Given the description of an element on the screen output the (x, y) to click on. 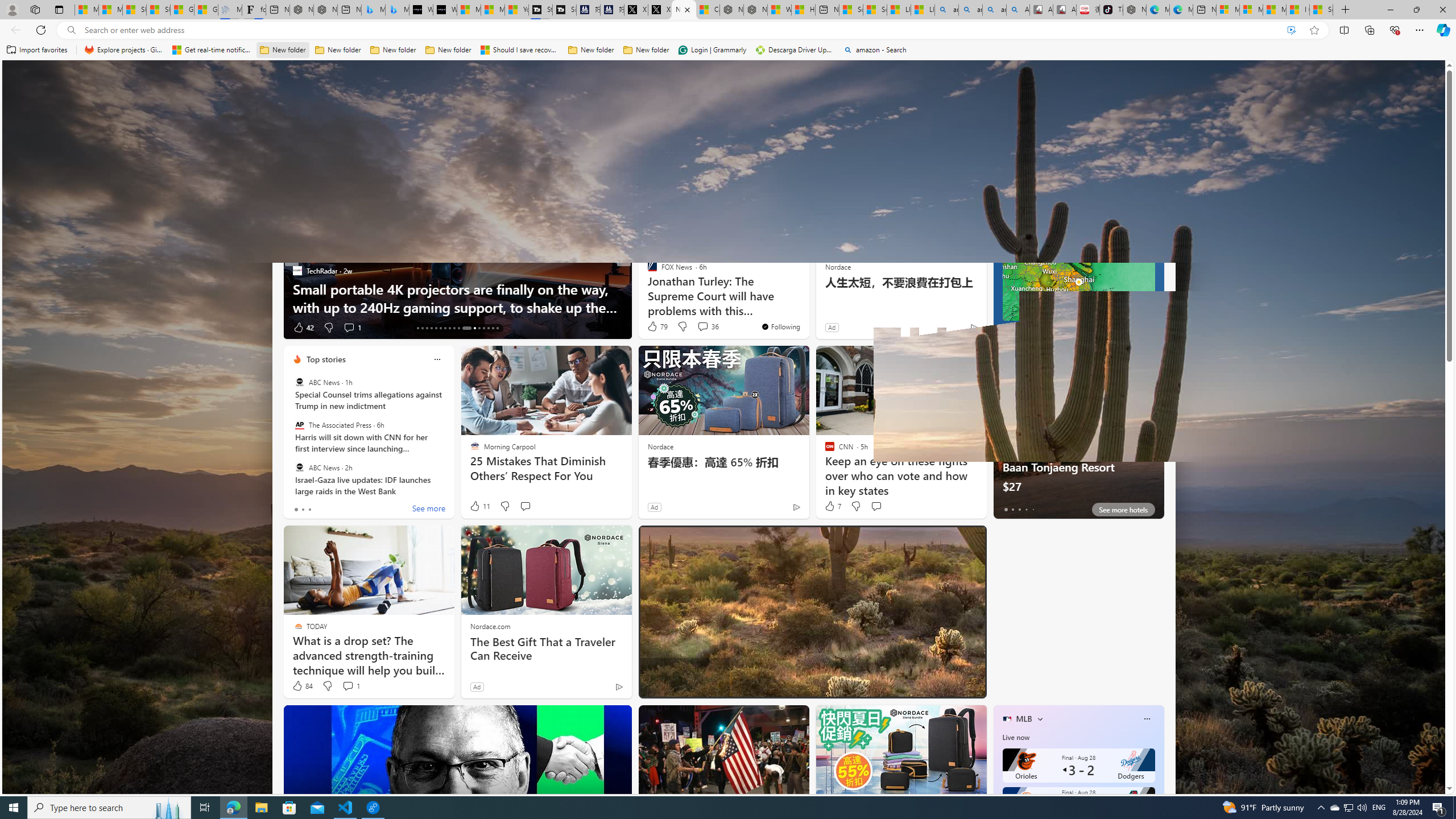
aqi-icon (1121, 204)
hotels-header-icon (1006, 358)
Descarga Driver Updater (794, 49)
Nordace - Summer Adventures 2024 (754, 9)
Gaming (537, 151)
AutomationID: backgroundImagePicture (723, 426)
Notifications (1397, 78)
The Associated Press (299, 424)
MSNBC (647, 288)
AutomationID: tab-39 (492, 328)
Microsoft account | Privacy (1251, 9)
View comments 44 Comment (705, 685)
Cool Weather Activities May Have To Wait Past September (807, 298)
Huge shark washes ashore at New York City beach | Watch (802, 9)
